Given the description of an element on the screen output the (x, y) to click on. 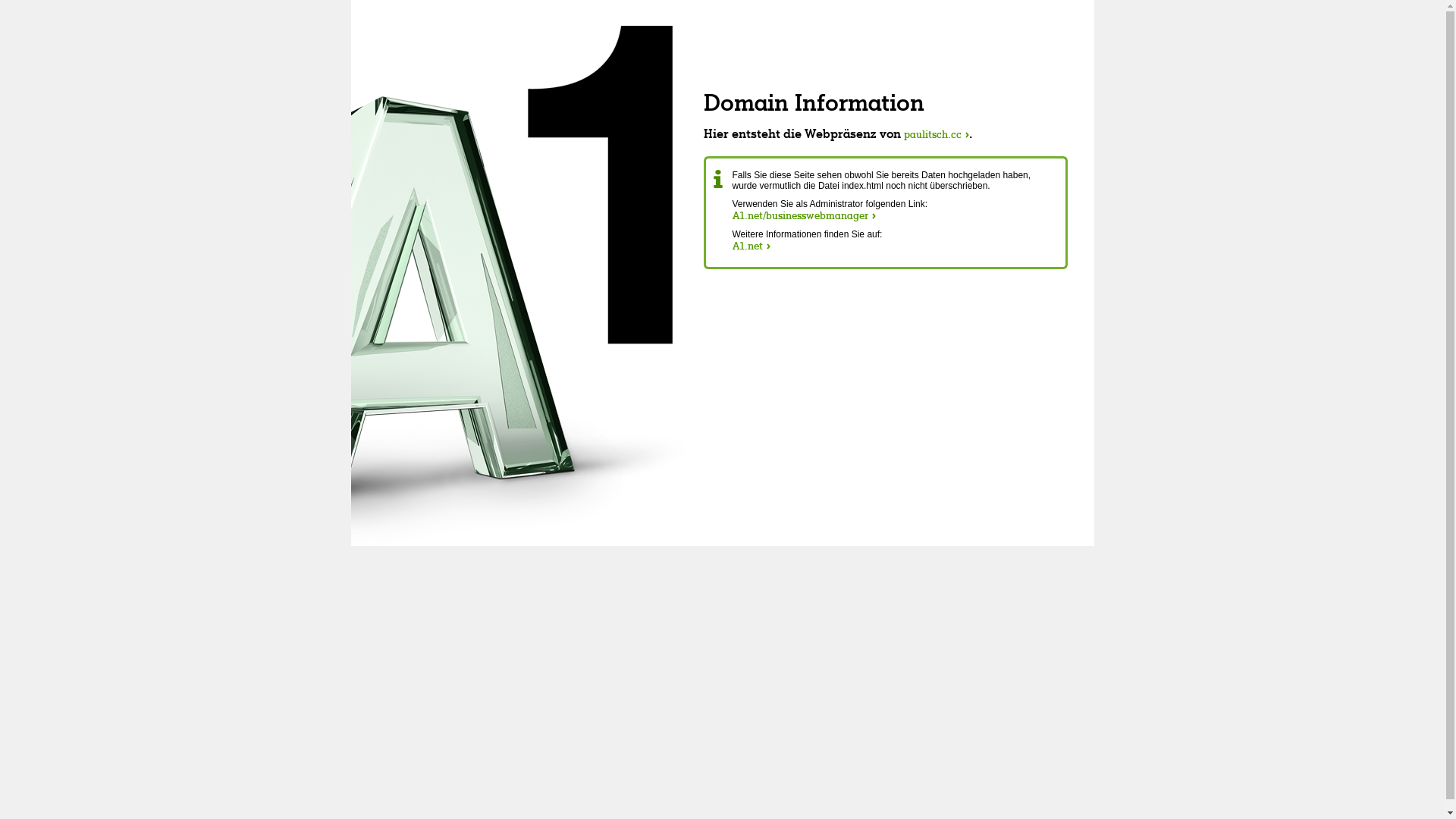
paulitsch.cc Element type: text (936, 134)
A1.net/businesswebmanager Element type: text (803, 215)
A1.net Element type: text (751, 245)
